Given the description of an element on the screen output the (x, y) to click on. 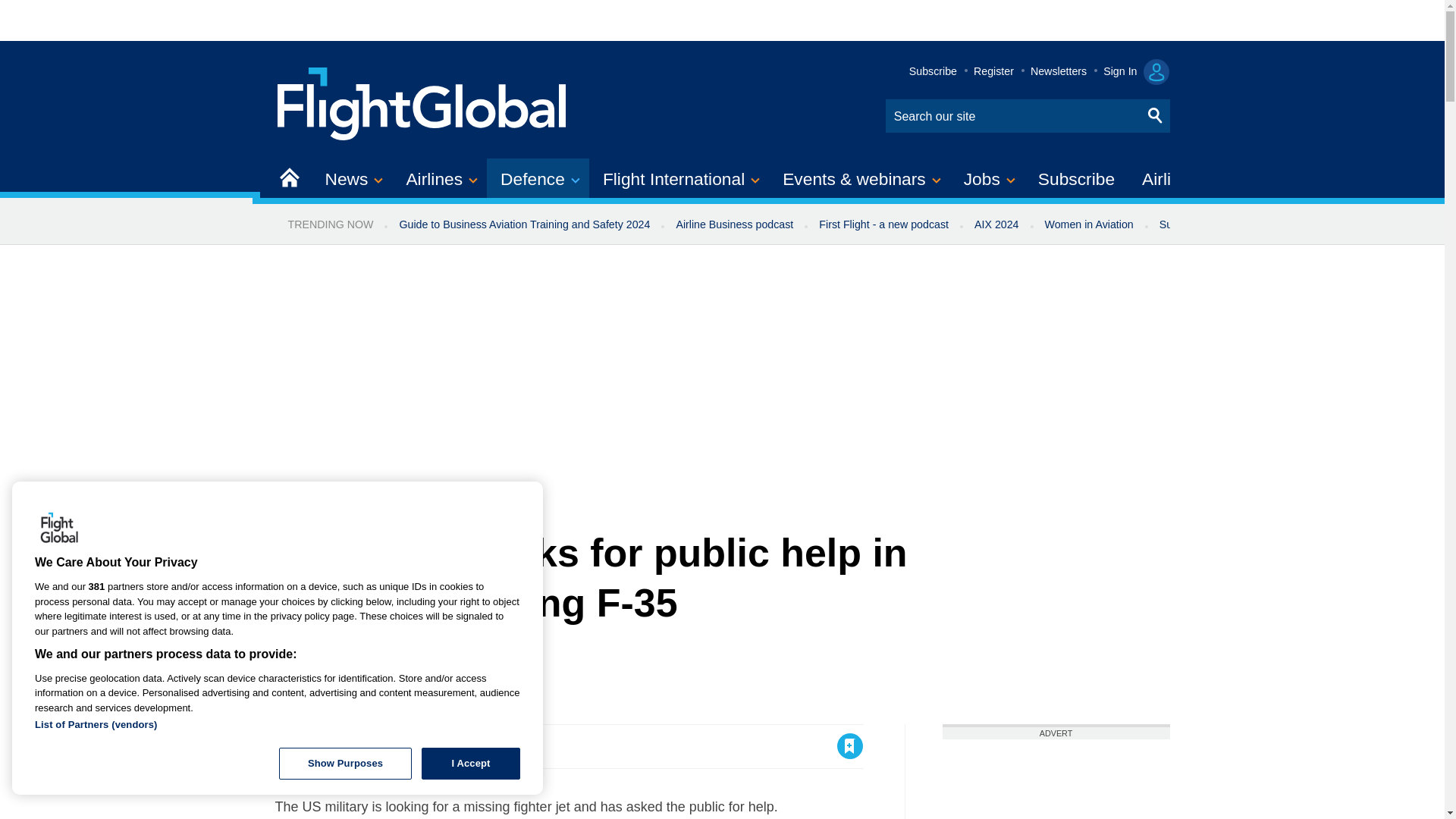
Guide to Business Aviation Training and Safety 2024 (523, 224)
Site name (422, 101)
Email this article (386, 746)
Share this on Facebook (288, 746)
Airline Business podcast (734, 224)
Sustainable Aviation newsletter (1234, 224)
First Flight - a new podcast (883, 224)
Women in Aviation (1089, 224)
AIX 2024 (996, 224)
Share this on Twitter (320, 746)
Share this on Linked in (352, 746)
